Given the description of an element on the screen output the (x, y) to click on. 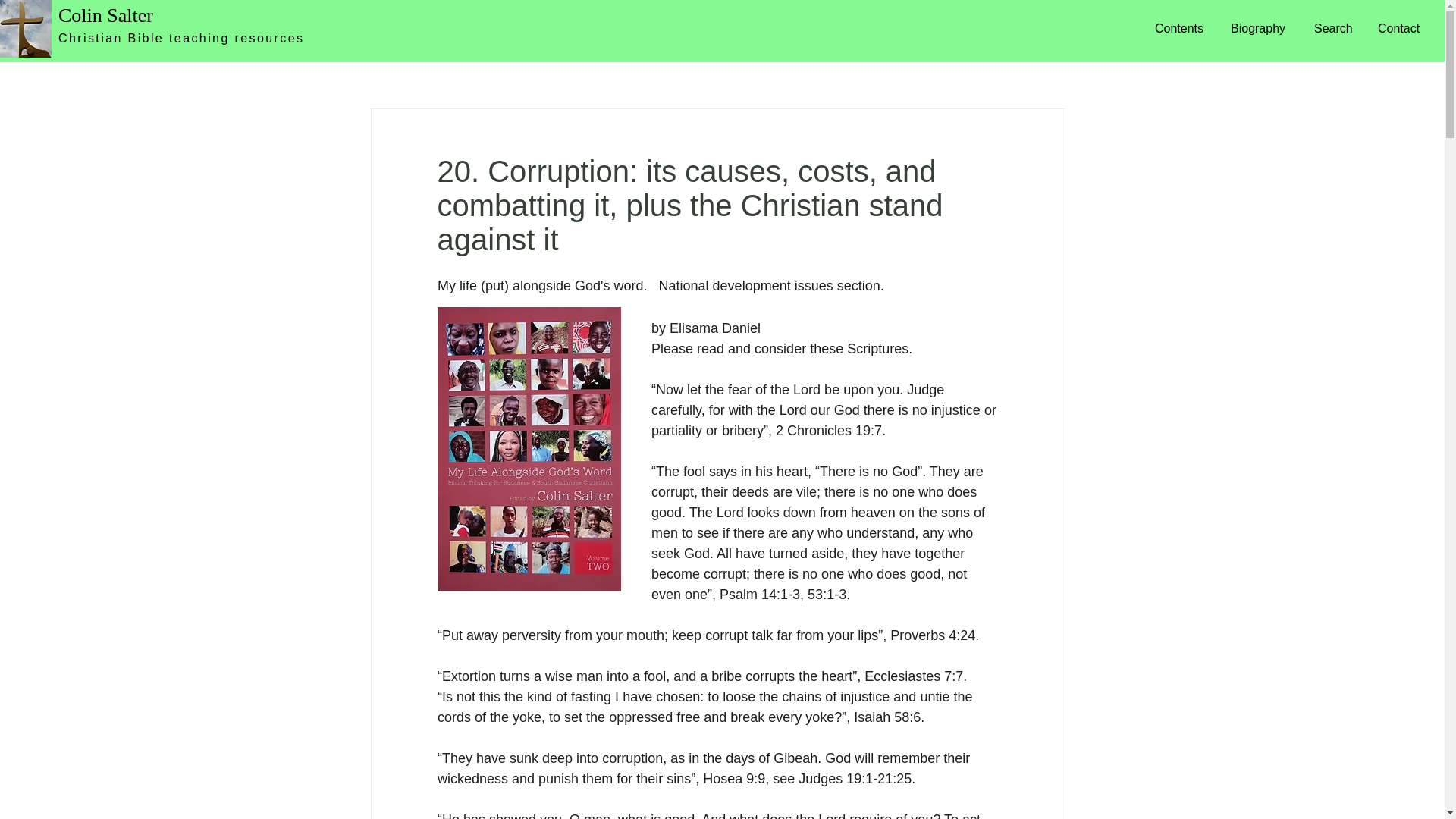
Christian Bible teaching resources (181, 38)
Biography (1261, 28)
Contact (1400, 28)
Contents (1181, 28)
Colin Salter (105, 15)
Search (1335, 28)
